Given the description of an element on the screen output the (x, y) to click on. 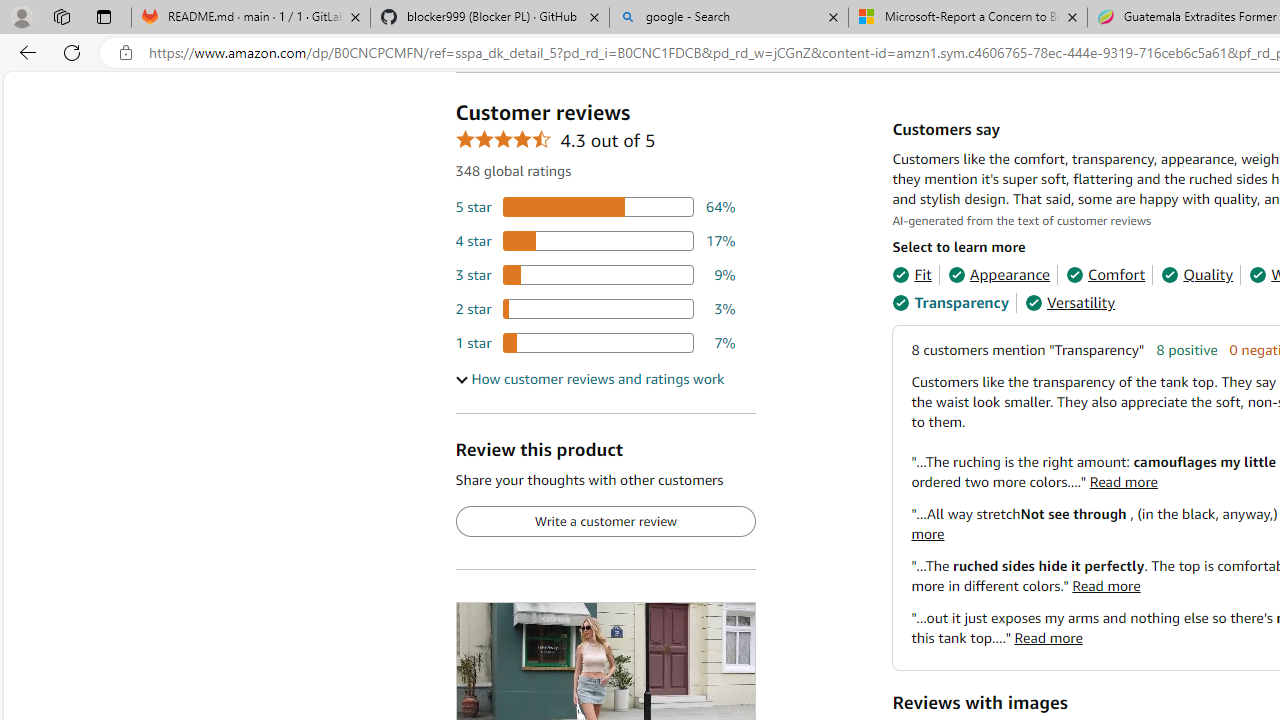
Write a customer review (605, 521)
Read more (1047, 638)
3 percent of reviews have 2 stars (595, 308)
Appearance (998, 274)
7 percent of reviews have 1 stars (595, 343)
Quality (1196, 274)
